Given the description of an element on the screen output the (x, y) to click on. 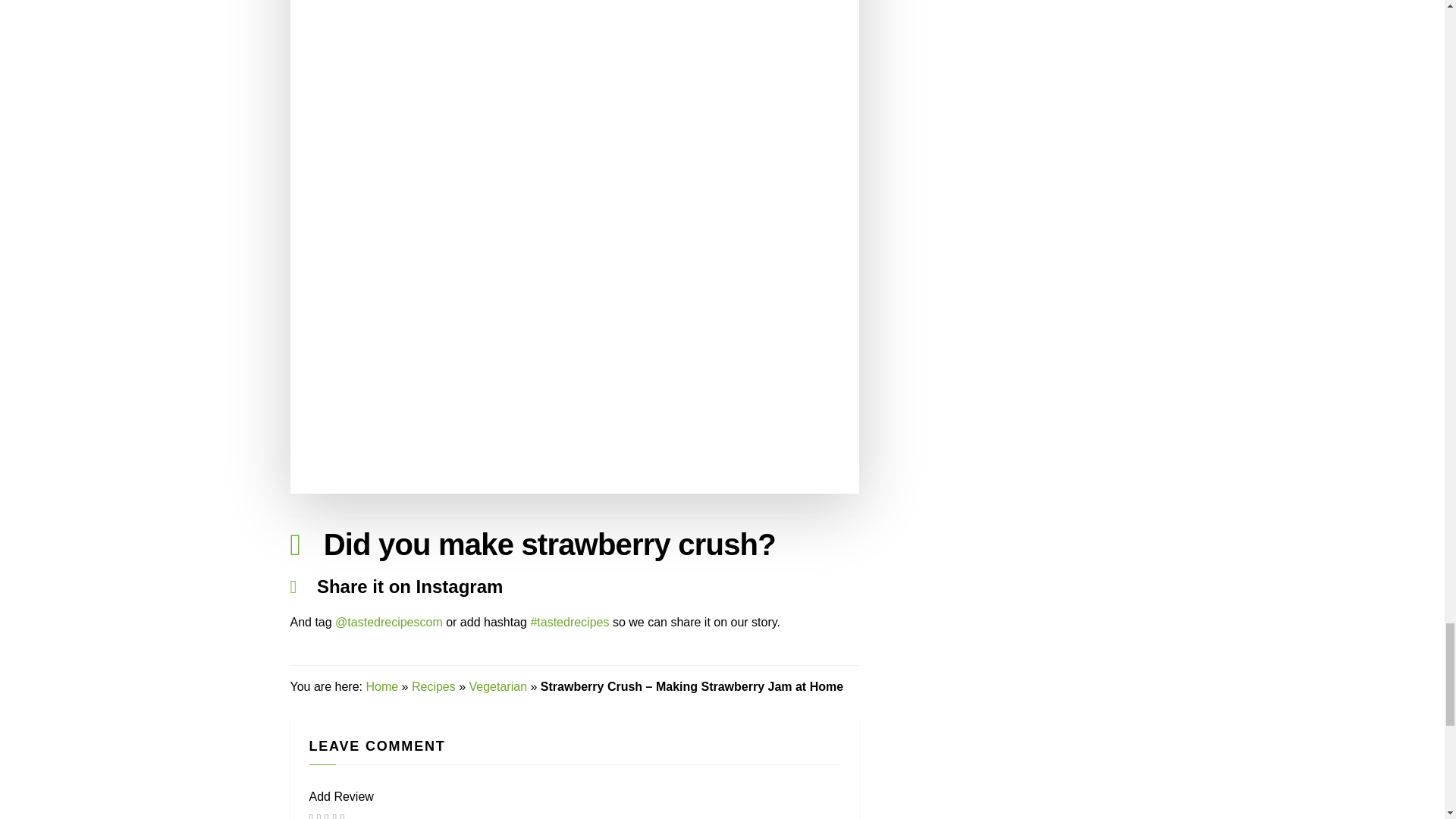
Recipes (433, 686)
Vegetarian (497, 686)
Home (381, 686)
